Given the description of an element on the screen output the (x, y) to click on. 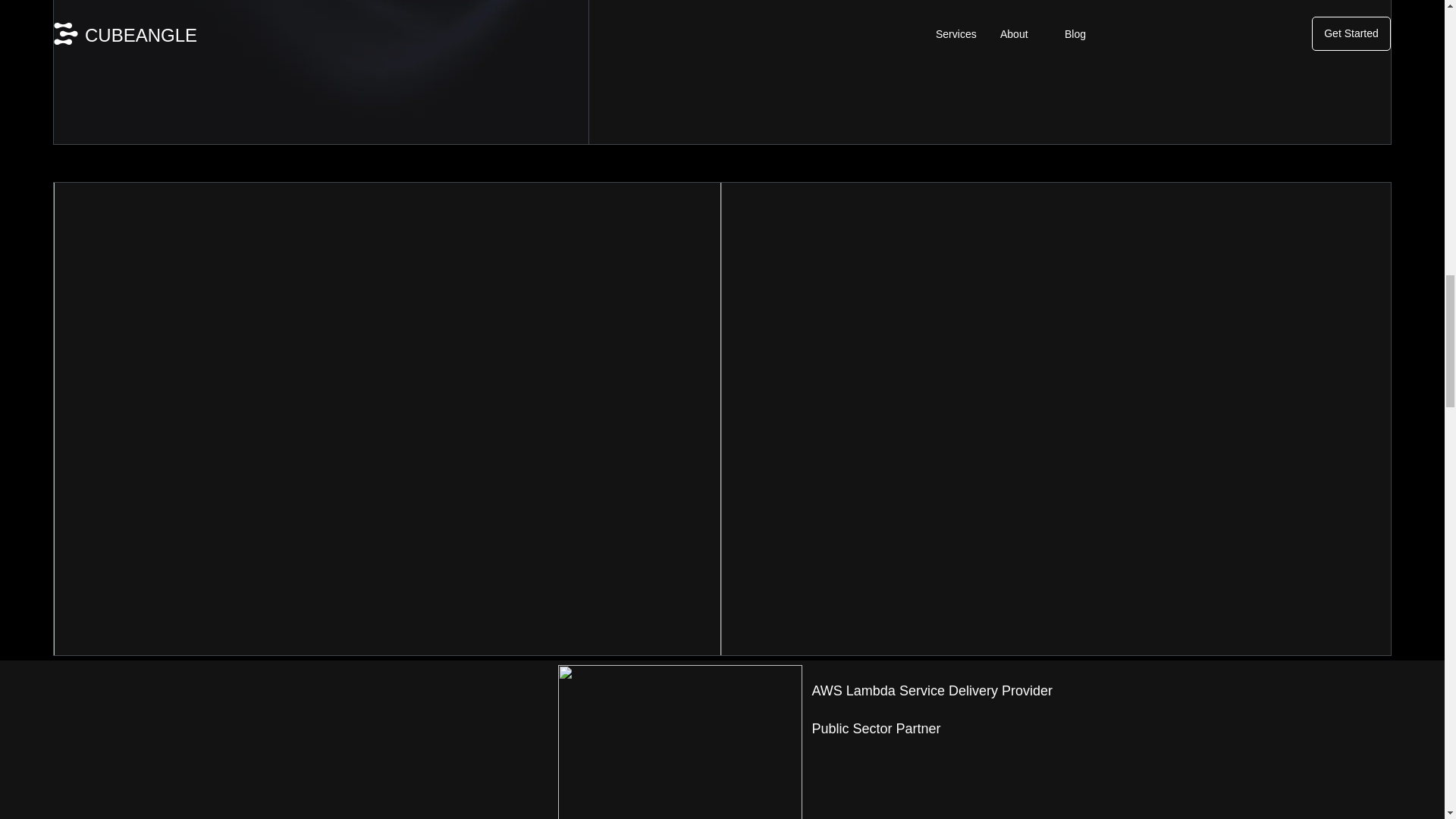
Badge.png (679, 742)
